Given the description of an element on the screen output the (x, y) to click on. 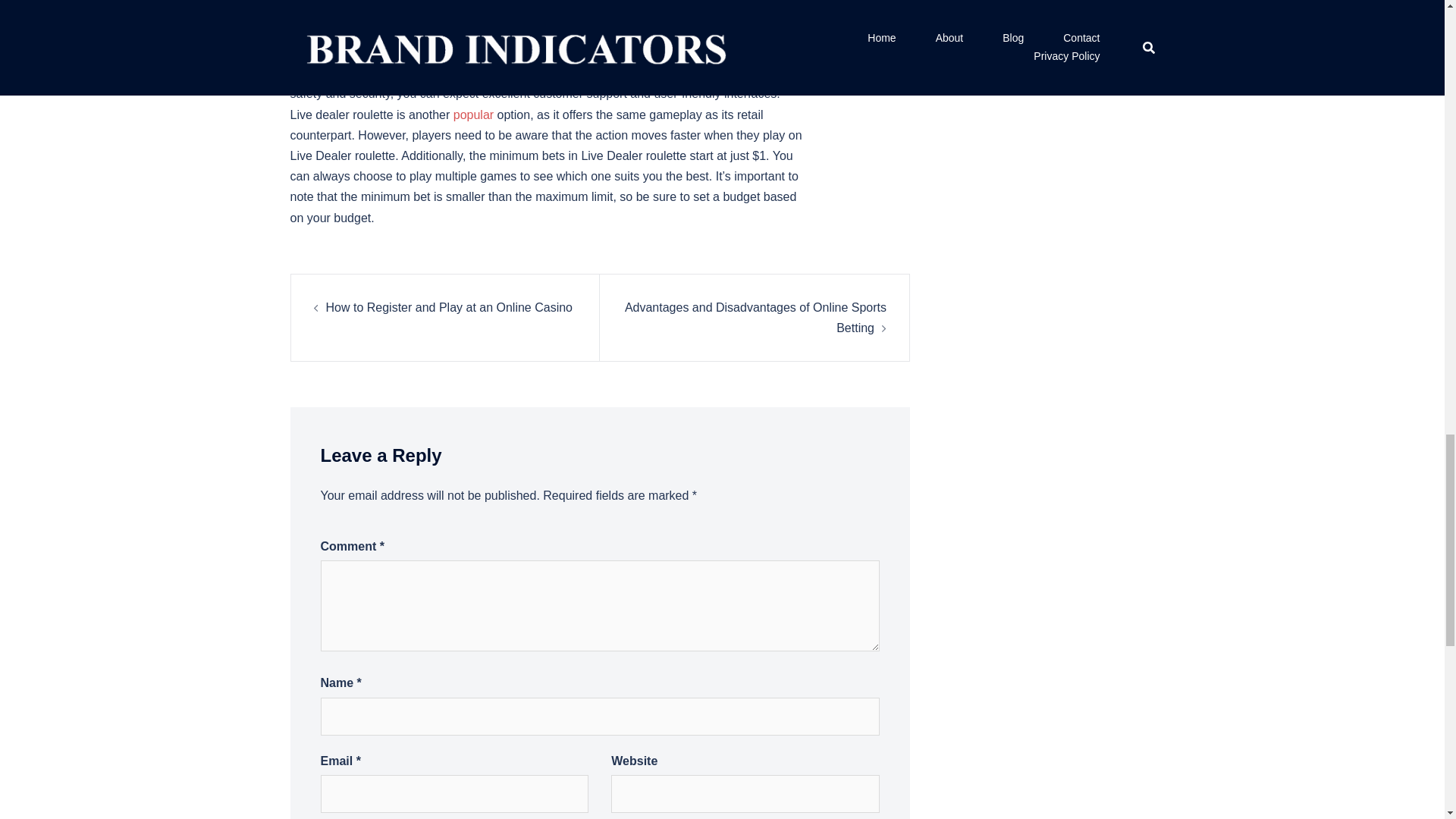
Advantages and Disadvantages of Online Sports Betting (755, 317)
popular (472, 114)
How to Register and Play at an Online Casino (449, 307)
